Given the description of an element on the screen output the (x, y) to click on. 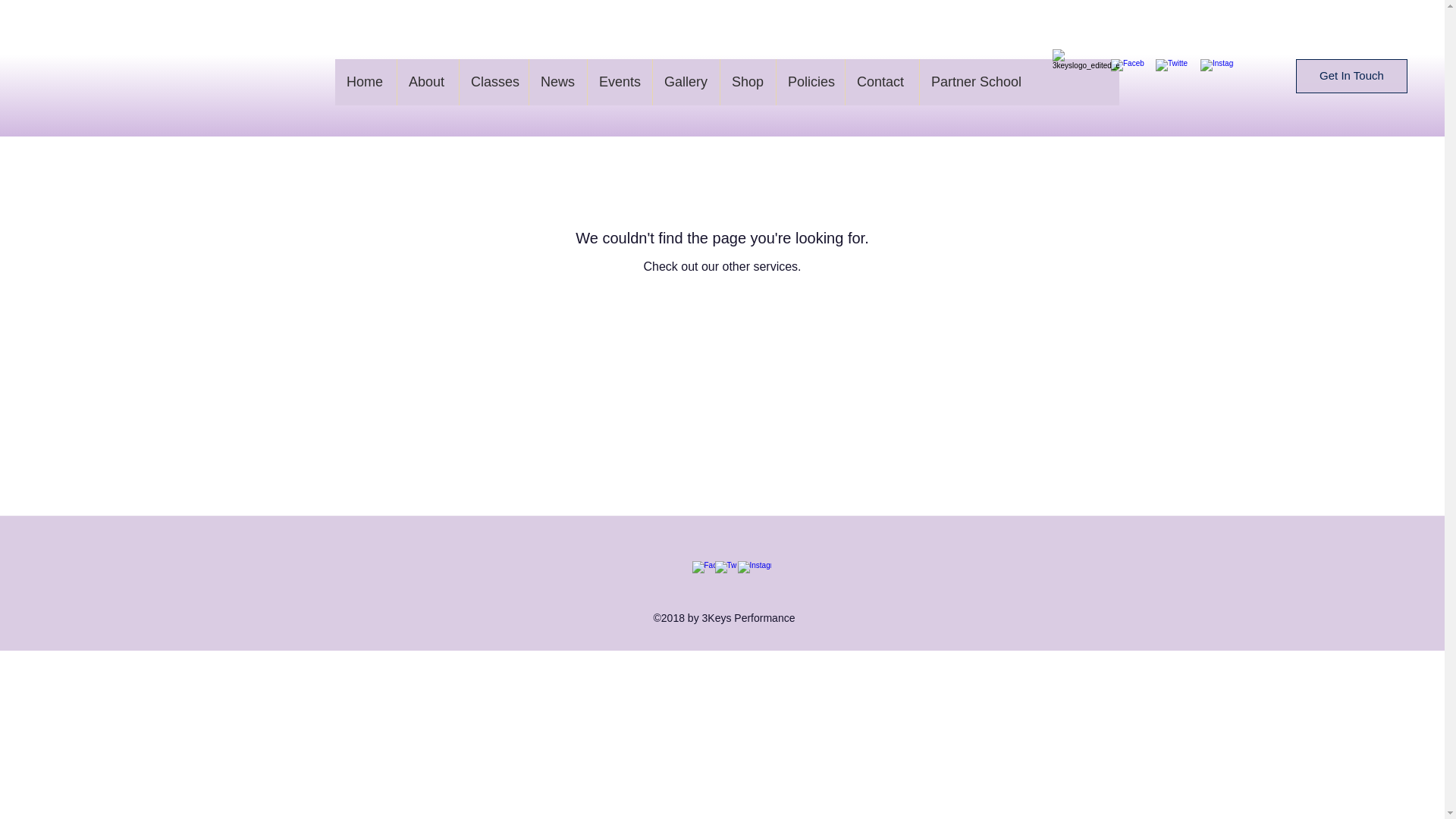
Policies (810, 81)
News (557, 81)
Gallery (685, 81)
Get In Touch (1351, 75)
Classes (493, 81)
Partner School (977, 81)
Home (365, 81)
Events (619, 81)
Contact (881, 81)
About (427, 81)
